Given the description of an element on the screen output the (x, y) to click on. 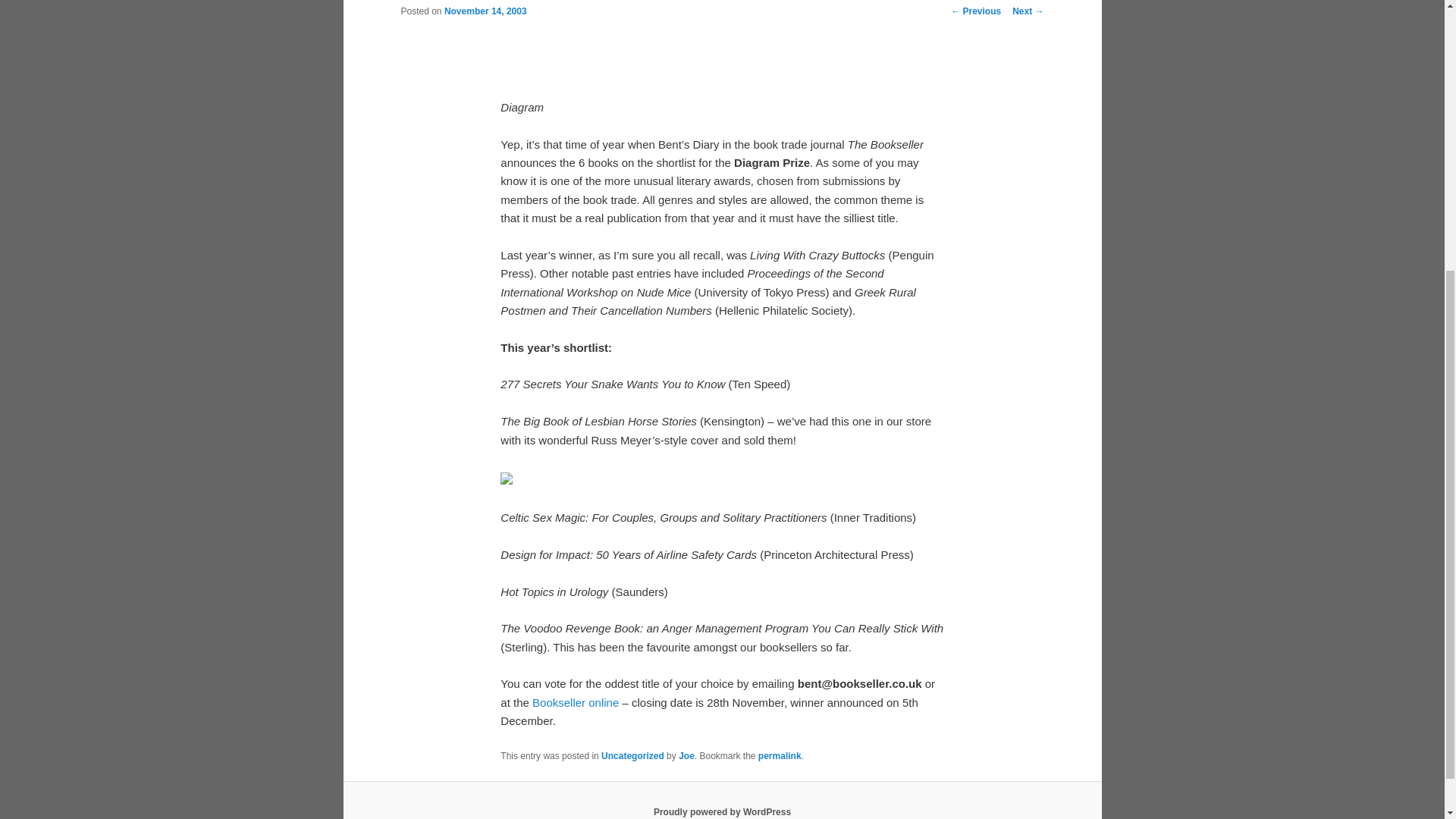
Uncategorized (632, 756)
Proudly powered by WordPress (721, 811)
Bookseller online (575, 702)
Semantic Personal Publishing Platform (721, 811)
permalink (780, 756)
Joe (686, 756)
November 14, 2003 (485, 10)
